Given the description of an element on the screen output the (x, y) to click on. 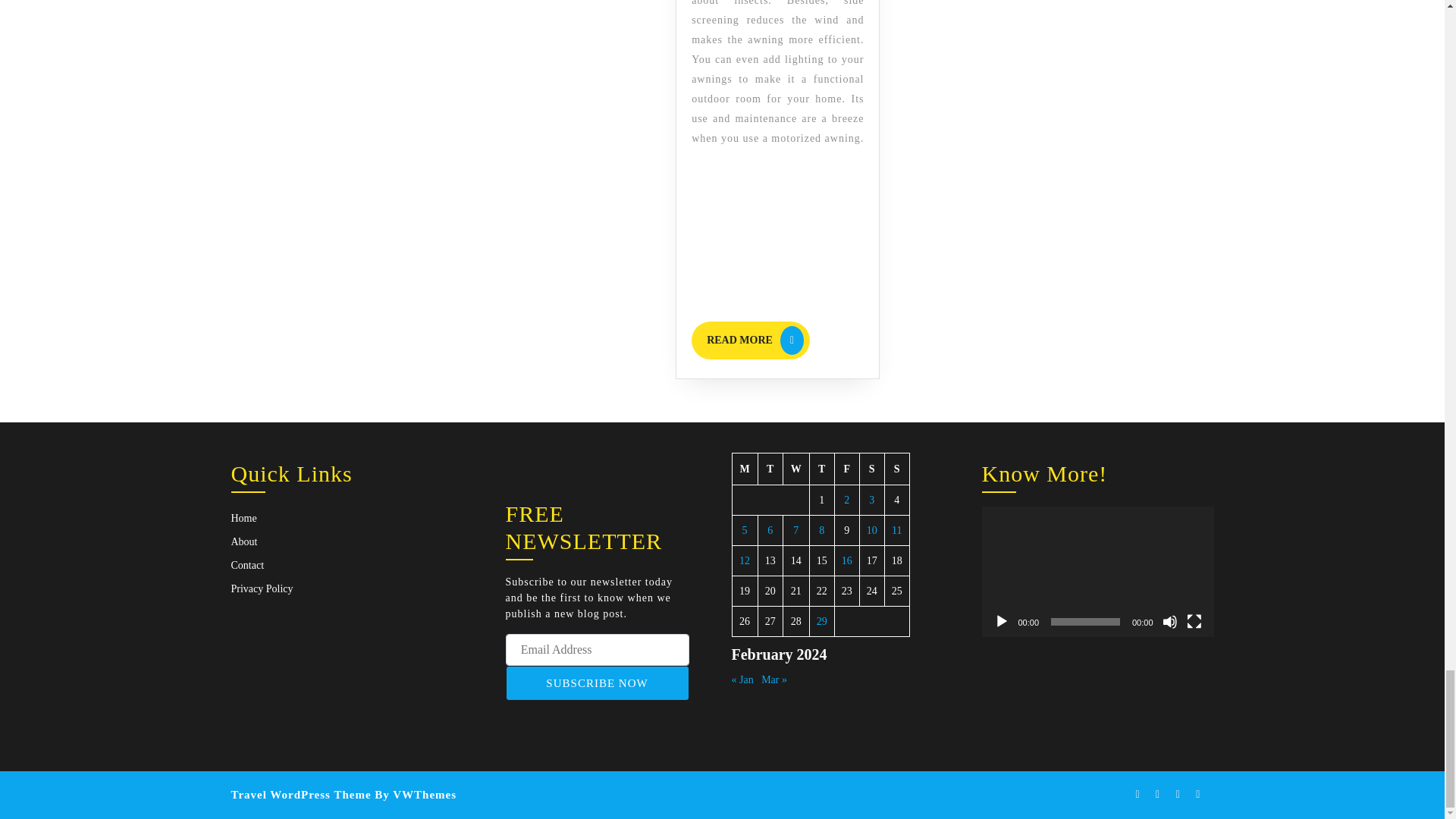
Fullscreen (1193, 621)
SUBSCRIBE NOW (596, 683)
Mute (1168, 621)
Play (1000, 621)
